Given the description of an element on the screen output the (x, y) to click on. 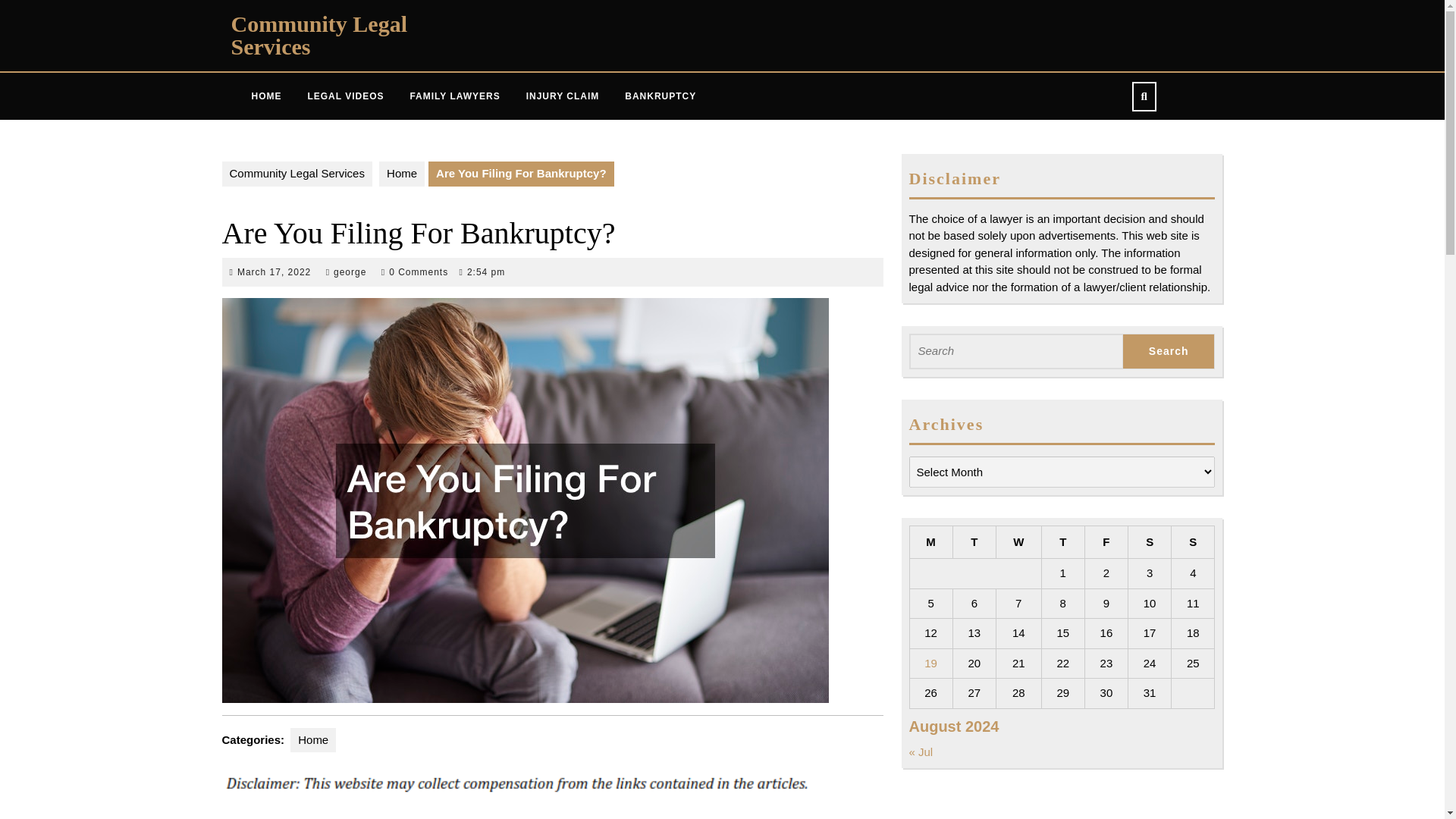
Community Legal Services (318, 34)
Sunday (1193, 541)
FAMILY LAWYERS (454, 96)
HOME (266, 96)
BANKRUPTCY (659, 96)
Saturday (1150, 541)
19 (930, 662)
Home (312, 740)
Search (1168, 351)
